Given the description of an element on the screen output the (x, y) to click on. 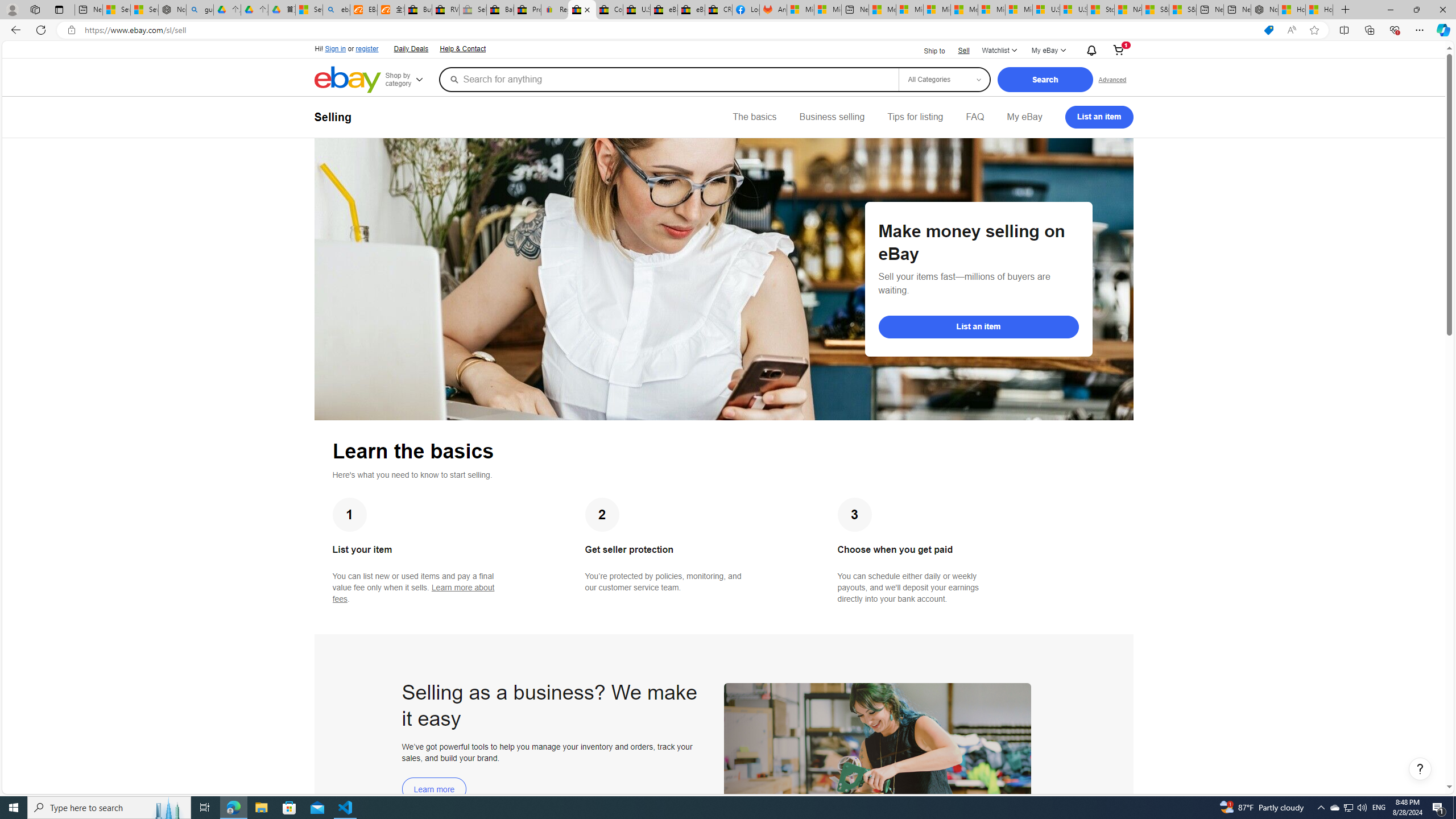
FAQ (974, 116)
Learn more (434, 788)
Business selling (831, 116)
eBay Home (347, 79)
Microsoft account | Home (936, 9)
Sell (963, 49)
Selling on eBay | Electronics, Fashion, Home & Garden | eBay (581, 9)
register (366, 49)
